Given the description of an element on the screen output the (x, y) to click on. 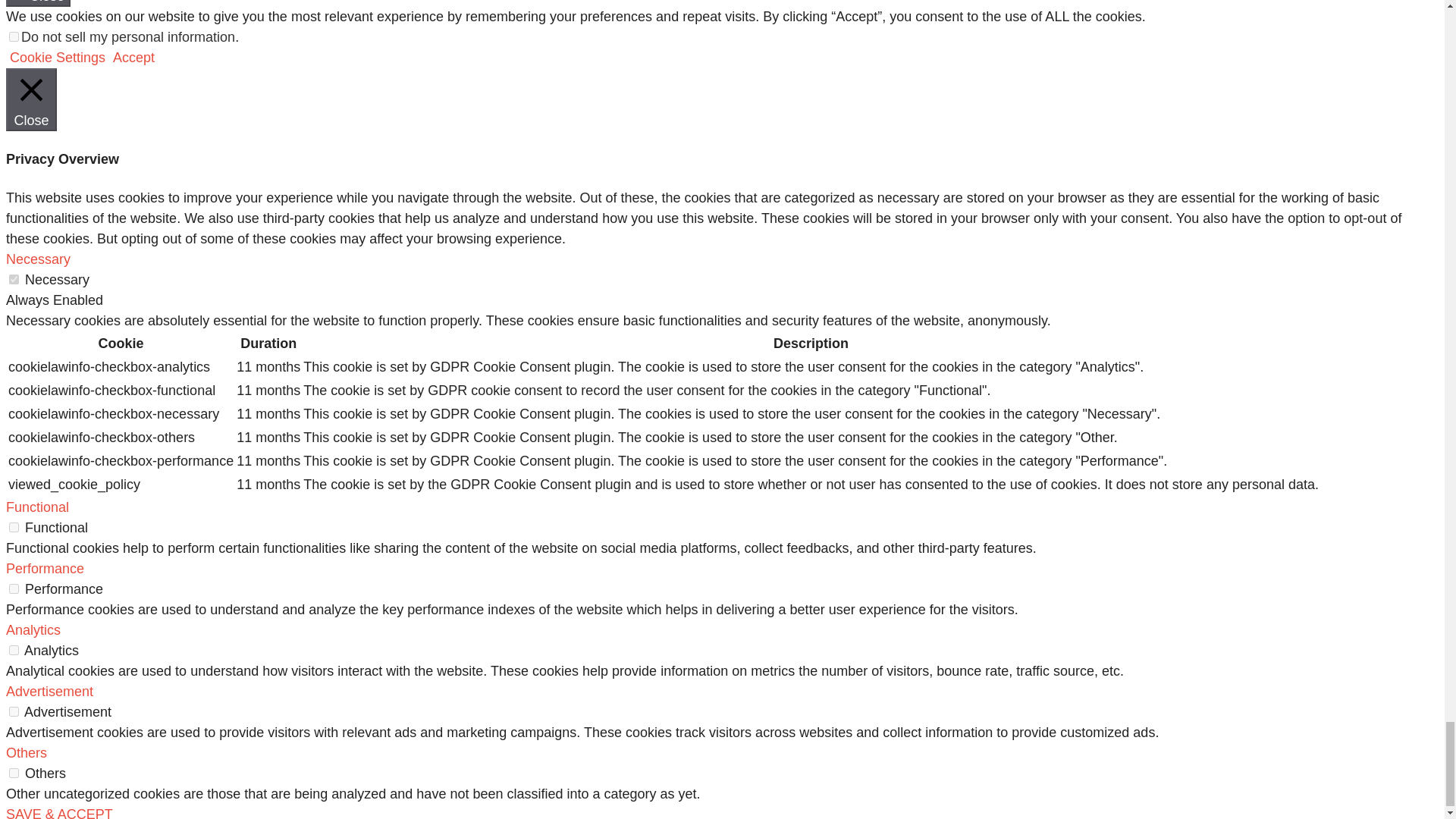
on (13, 650)
on (13, 36)
on (13, 279)
on (13, 773)
on (13, 588)
on (13, 527)
on (13, 711)
